Given the description of an element on the screen output the (x, y) to click on. 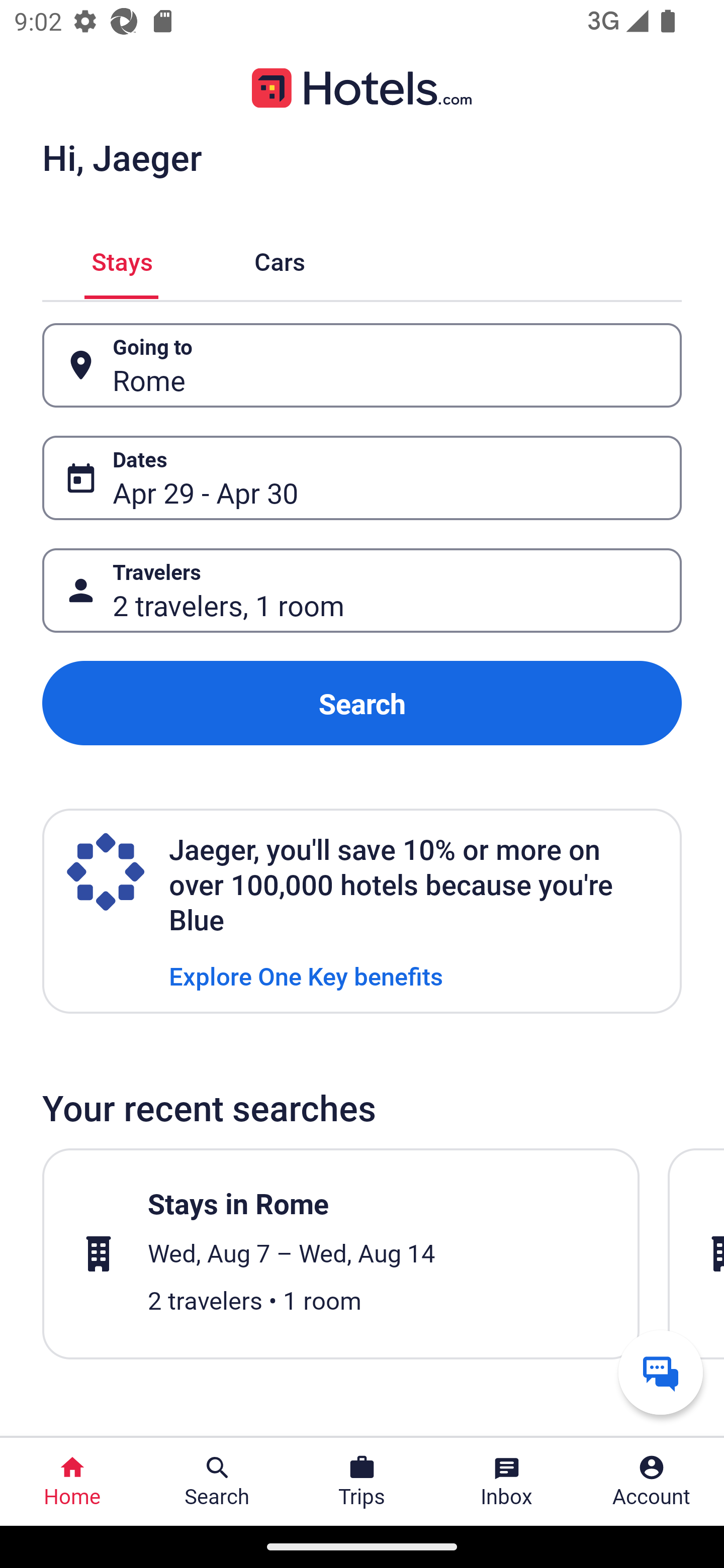
Hi, Jaeger (121, 156)
Cars (279, 259)
Going to Button Rome (361, 365)
Dates Button Apr 29 - Apr 30 (361, 477)
Travelers Button 2 travelers, 1 room (361, 590)
Search (361, 702)
Get help from a virtual agent (660, 1371)
Search Search Button (216, 1481)
Trips Trips Button (361, 1481)
Inbox Inbox Button (506, 1481)
Account Profile. Button (651, 1481)
